Given the description of an element on the screen output the (x, y) to click on. 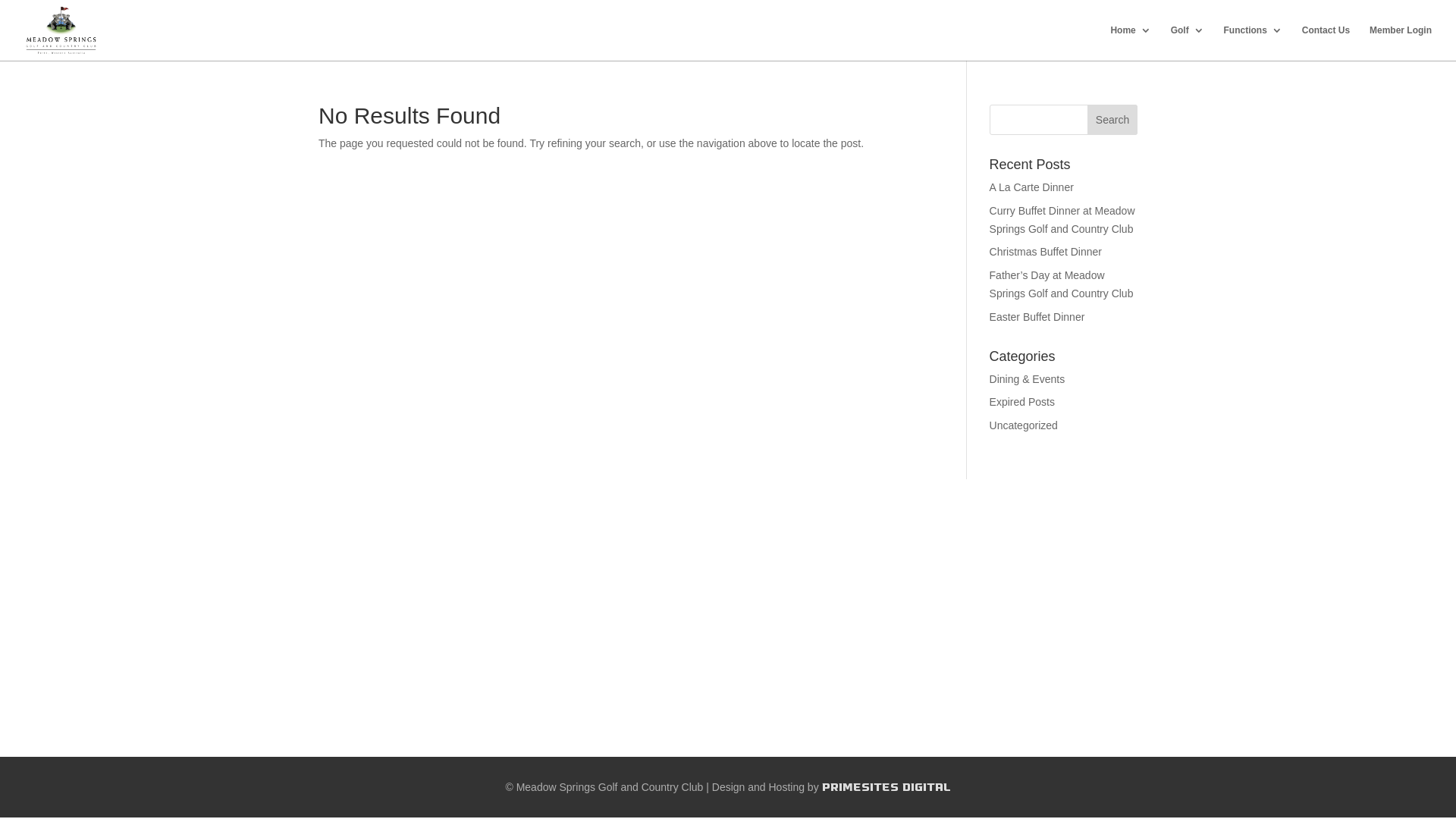
Member Login Element type: text (1400, 42)
Meadow Springs Golf and Country Club Element type: text (609, 787)
Contact Us Element type: text (1325, 42)
Home Element type: text (1130, 42)
Expired Posts Element type: text (1021, 401)
PrimeSites Digital Element type: text (886, 787)
Curry Buffet Dinner at Meadow Springs Golf and Country Club Element type: text (1062, 219)
Easter Buffet Dinner Element type: text (1037, 316)
Search Element type: text (1112, 119)
A La Carte Dinner Element type: text (1031, 187)
Functions Element type: text (1252, 42)
Christmas Buffet Dinner Element type: text (1045, 251)
Golf Element type: text (1187, 42)
Uncategorized Element type: text (1023, 425)
Dining & Events Element type: text (1027, 379)
